Given the description of an element on the screen output the (x, y) to click on. 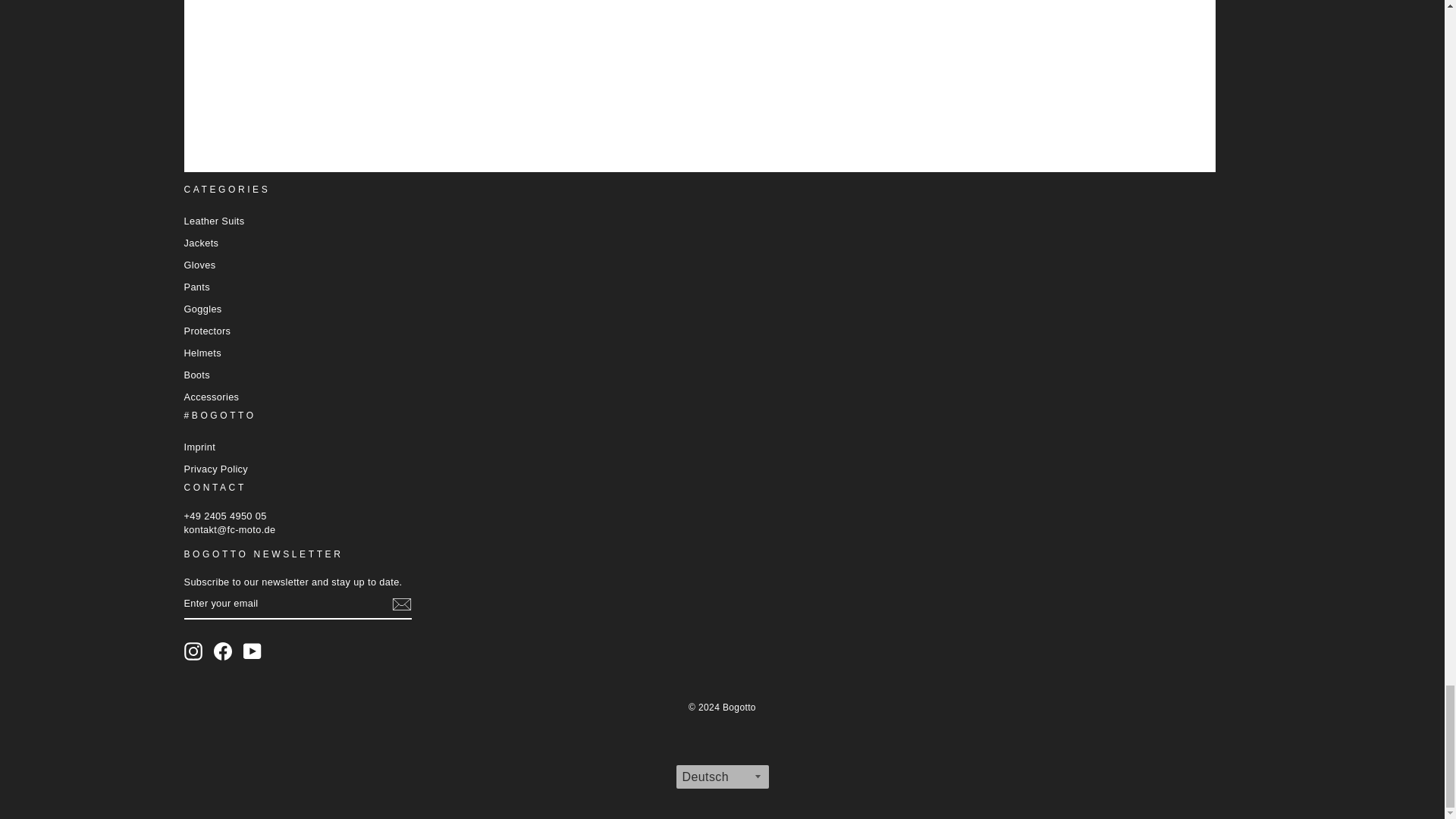
Bogotto on Instagram (192, 651)
Bogotto on Facebook (222, 651)
Bogotto on YouTube (251, 651)
